Given the description of an element on the screen output the (x, y) to click on. 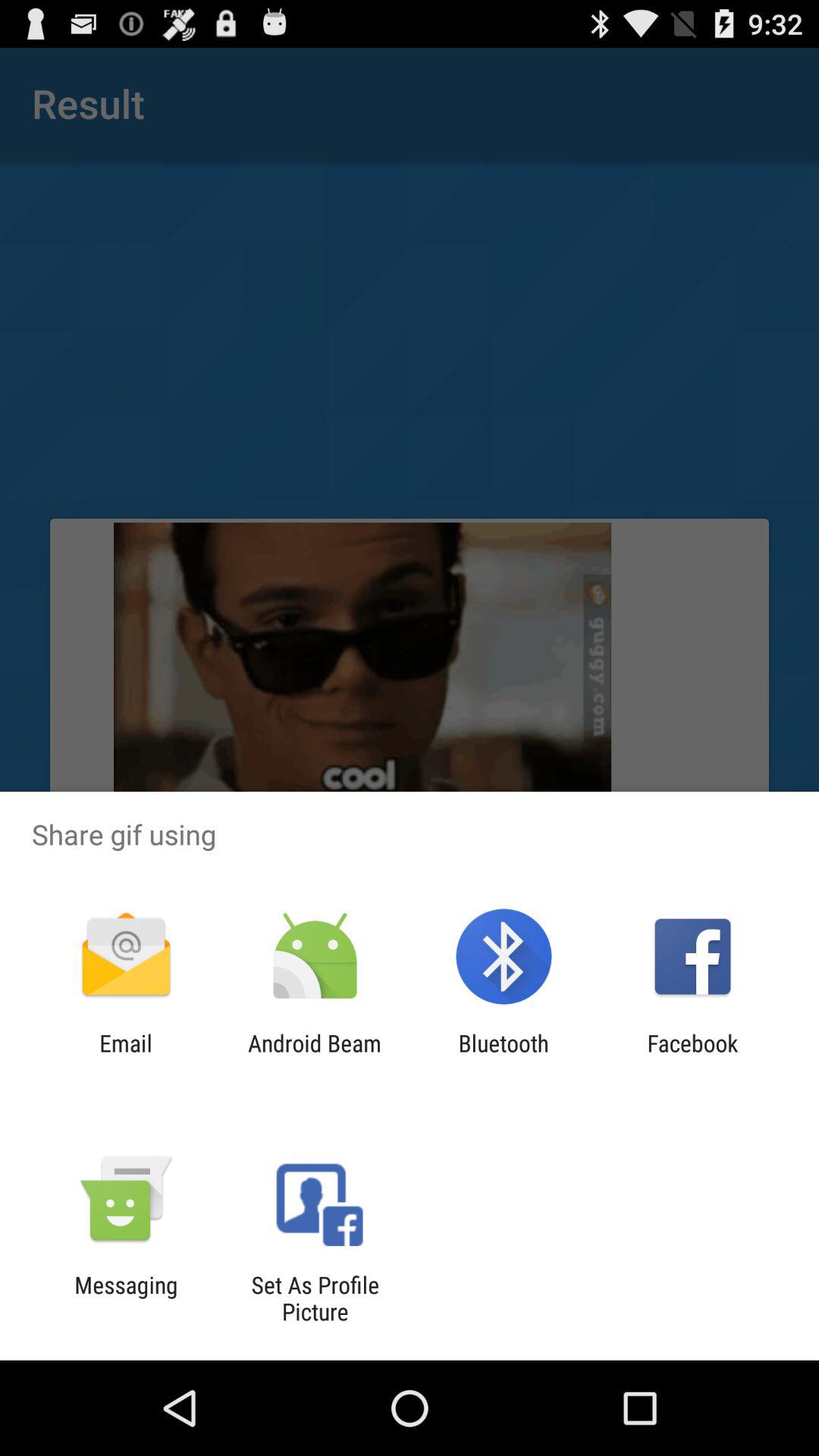
tap app next to the android beam item (503, 1056)
